Given the description of an element on the screen output the (x, y) to click on. 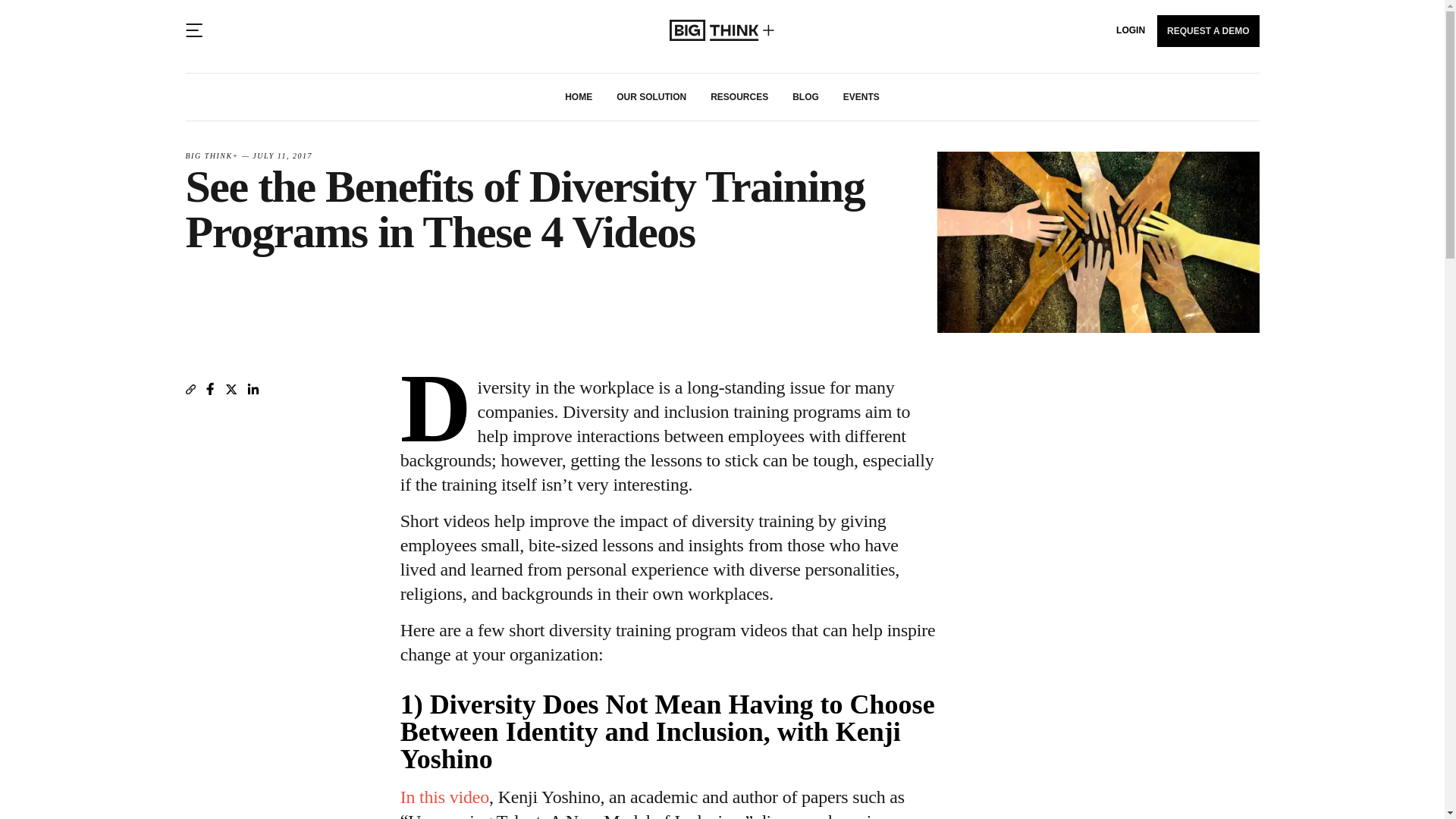
Open the Main Navigation (193, 29)
Return to homepage (721, 29)
REQUEST A DEMO (1208, 30)
RESOURCES (739, 96)
EVENTS (861, 96)
OUR SOLUTION (650, 96)
In this video (444, 796)
LOGIN (1130, 30)
